Given the description of an element on the screen output the (x, y) to click on. 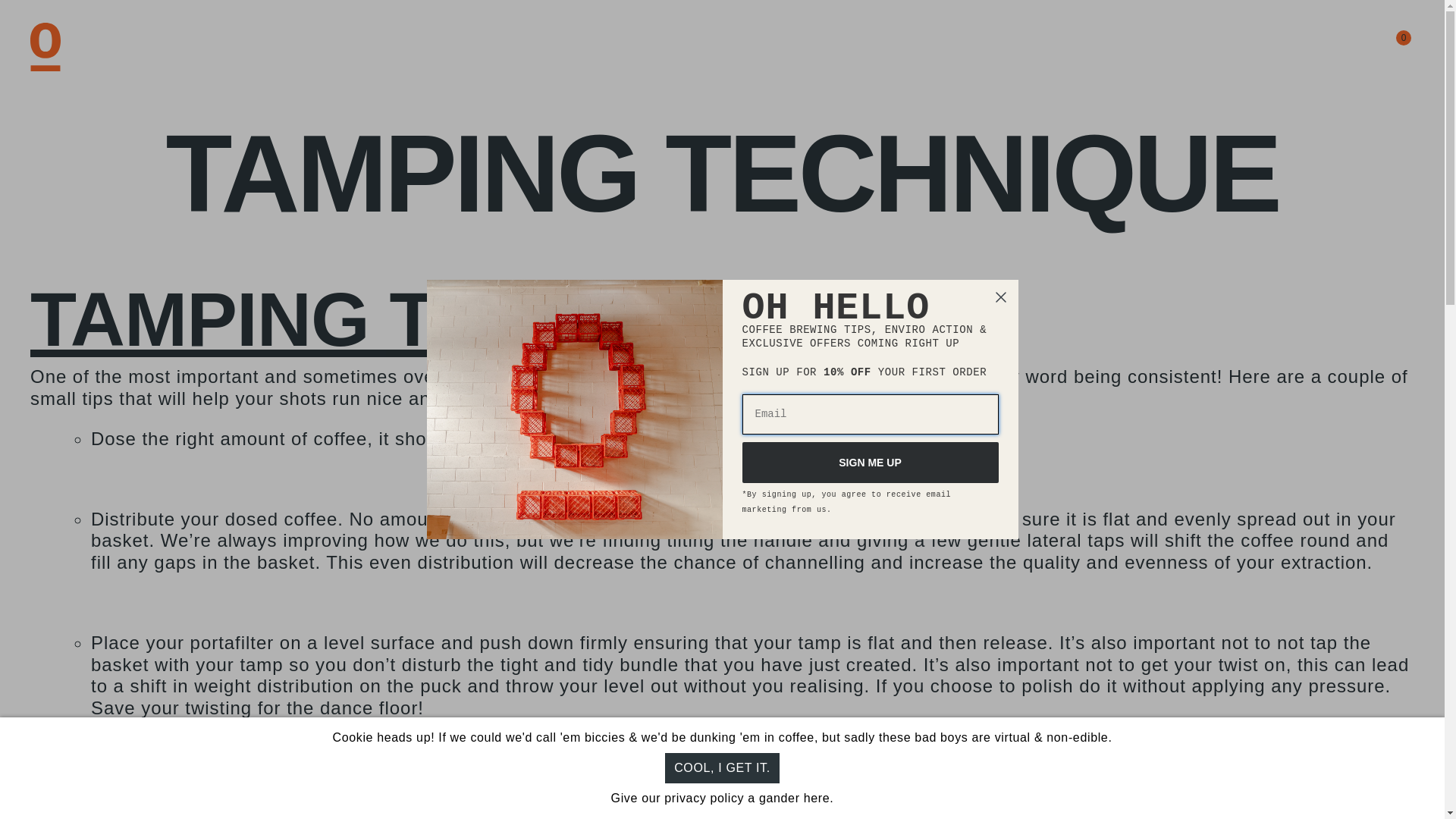
SHOP (895, 46)
Your Cart (1386, 46)
LOCATIONS (1228, 46)
SHOP (895, 46)
LOCATIONS (1228, 46)
Close dialog 1 (999, 296)
WHOLESALE (1121, 46)
0 (1386, 46)
Log In (1348, 46)
WHOLESALE (1121, 46)
